Given the description of an element on the screen output the (x, y) to click on. 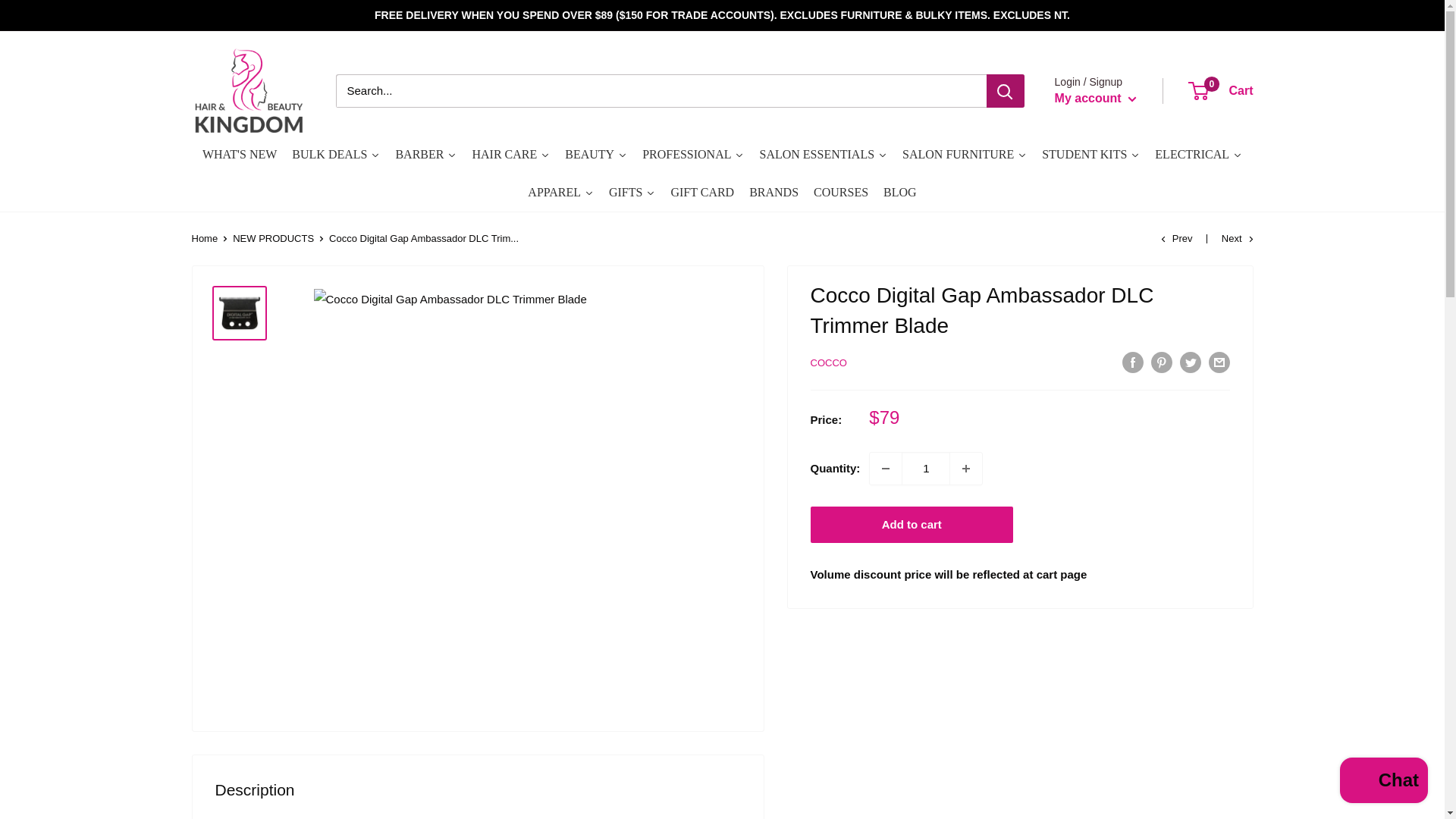
WHAT'S NEW (239, 154)
My account (1095, 97)
HAIR CARE (510, 154)
BARBER (425, 154)
1 (1220, 90)
BULK DEALS (925, 468)
